Given the description of an element on the screen output the (x, y) to click on. 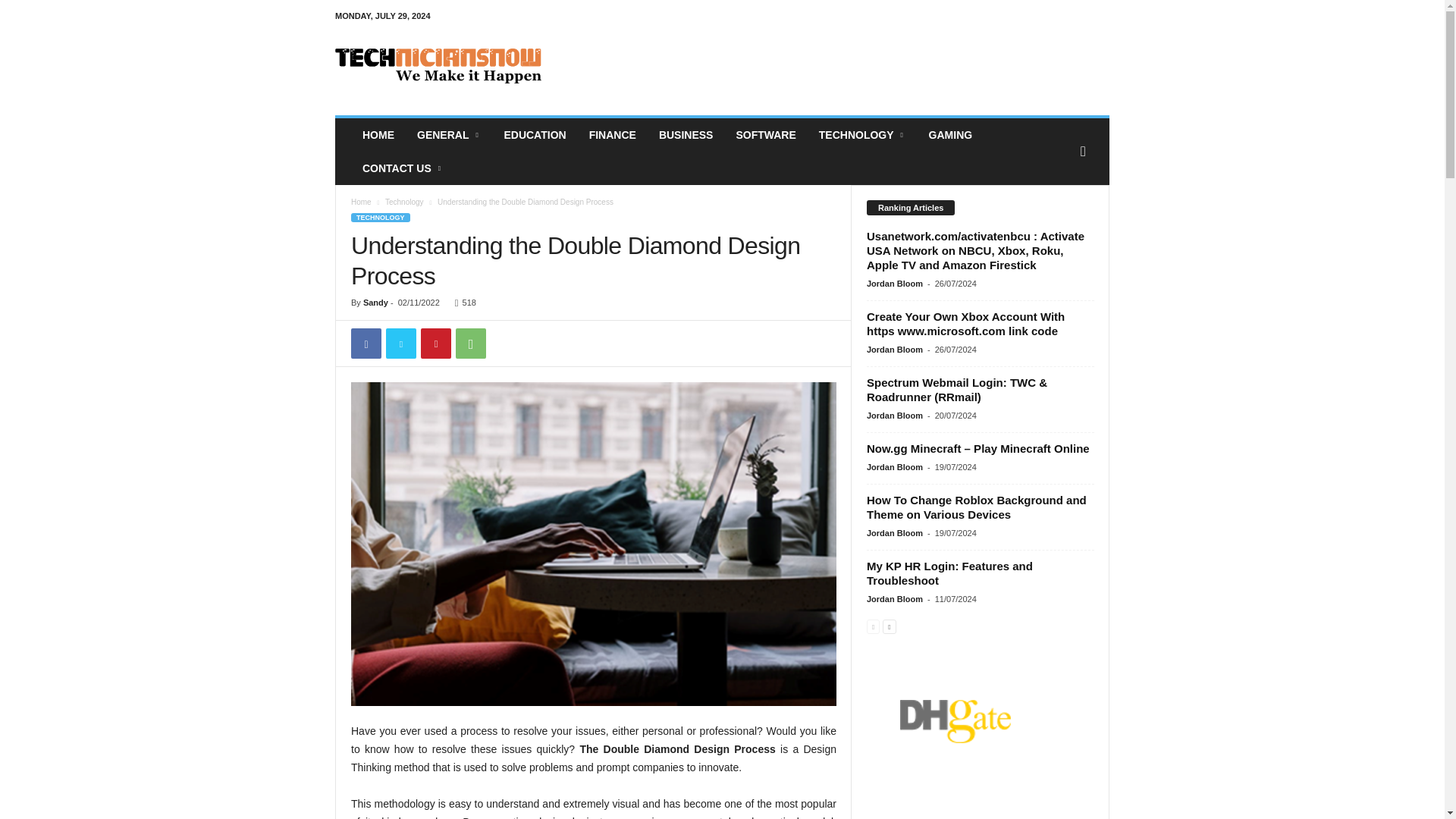
Techniciansnow (437, 65)
BUSINESS (686, 134)
TECHNOLOGY (862, 134)
GENERAL (449, 134)
FINANCE (612, 134)
Pinterest (435, 343)
HOME (378, 134)
EDUCATION (534, 134)
View all posts in Technology (404, 202)
WhatsApp (470, 343)
Facebook (365, 343)
Twitter (400, 343)
SOFTWARE (764, 134)
